Given the description of an element on the screen output the (x, y) to click on. 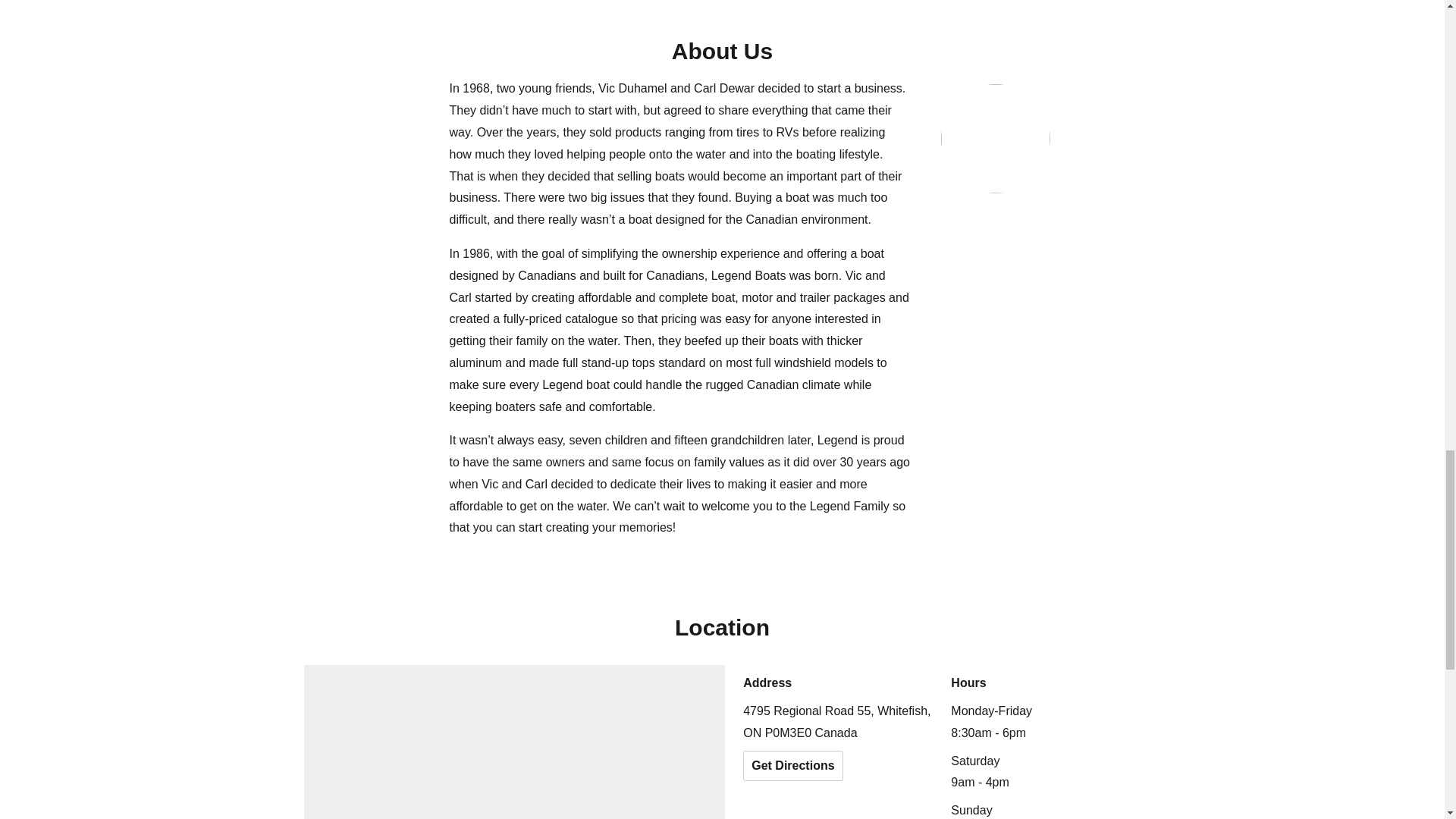
Location on map (513, 742)
Get Directions (792, 766)
